Given the description of an element on the screen output the (x, y) to click on. 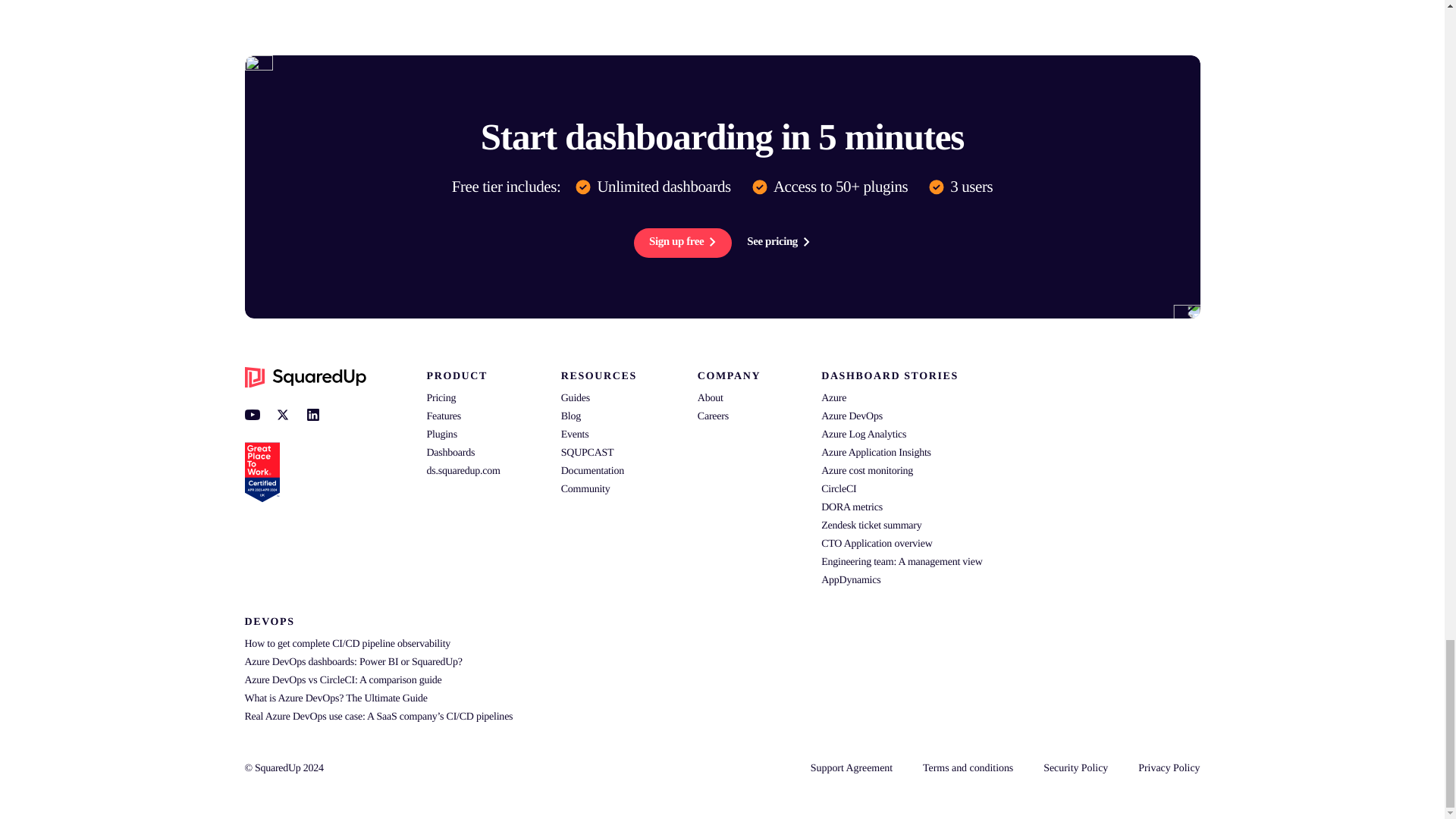
See pricing (778, 242)
About (710, 398)
Careers (713, 416)
ds.squaredup.com (462, 471)
Pricing (440, 398)
Dashboards (450, 452)
LinkedIn (312, 414)
Blog (570, 416)
Azure DevOps (851, 416)
Azure (833, 398)
